Given the description of an element on the screen output the (x, y) to click on. 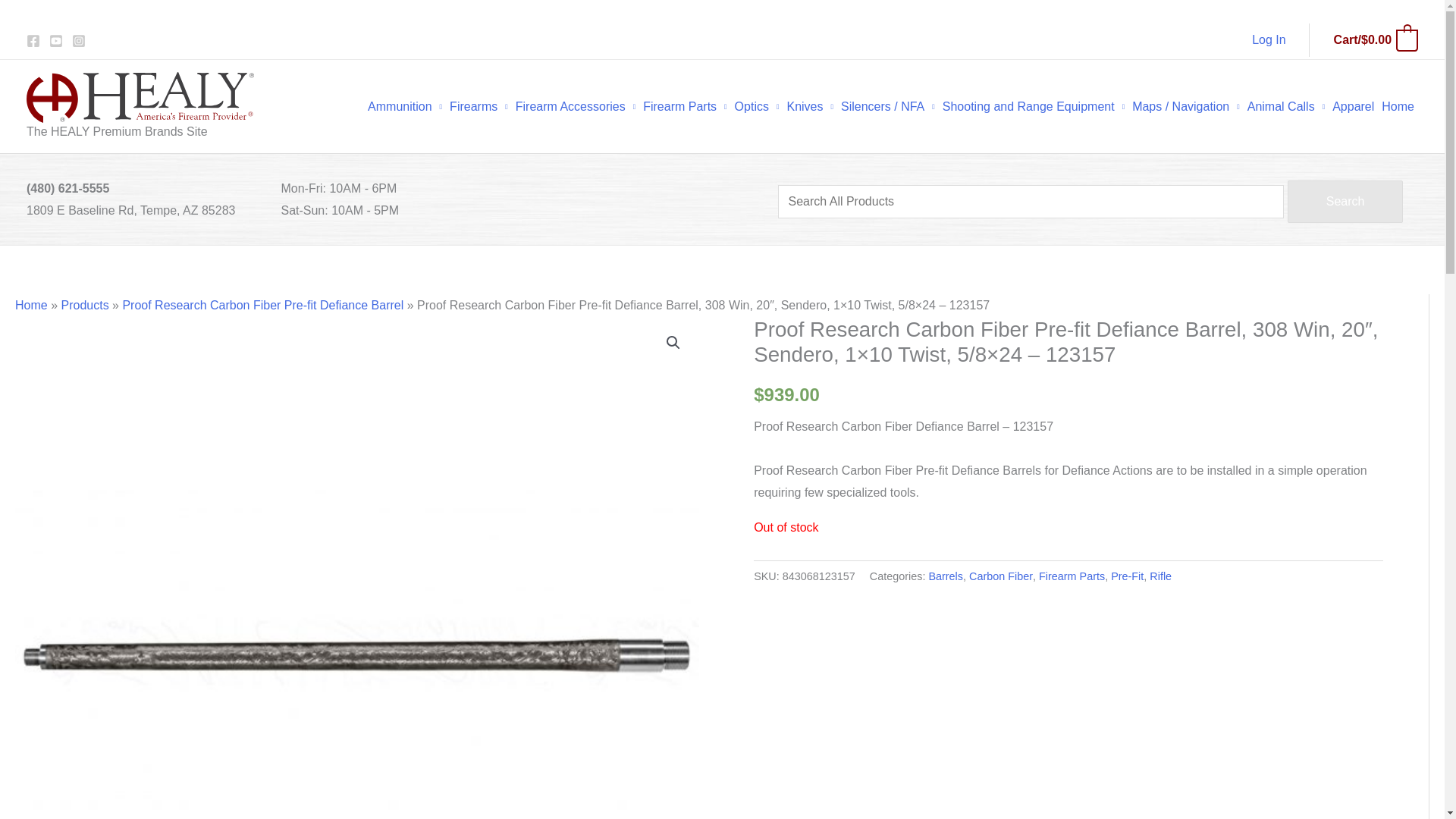
Log In (1268, 39)
Firearm Accessories (575, 106)
Ammunition (404, 106)
Firearms (478, 106)
